Given the description of an element on the screen output the (x, y) to click on. 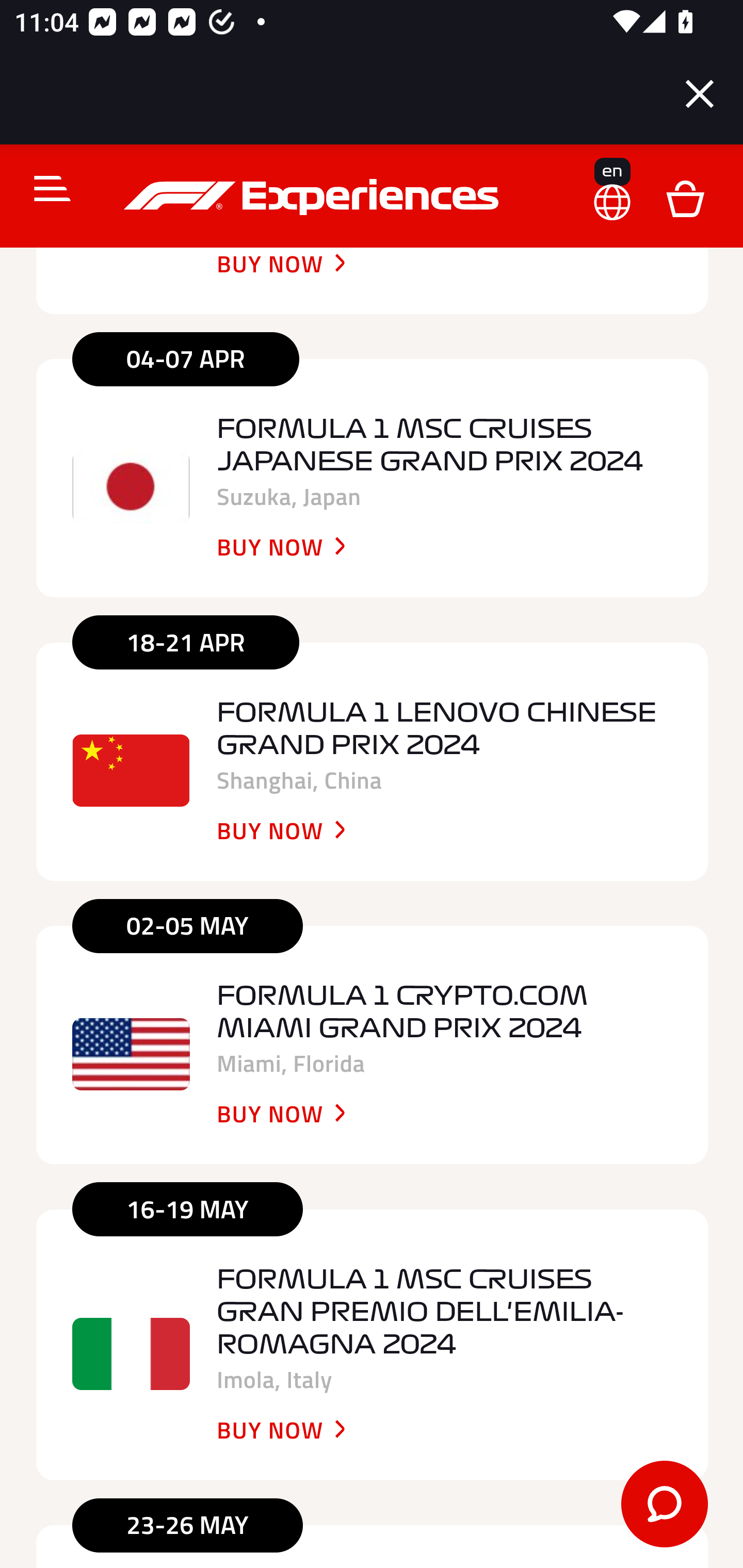
Close (699, 93)
Toggle navigation C (43, 188)
D (684, 197)
f1experiences (313, 197)
